Given the description of an element on the screen output the (x, y) to click on. 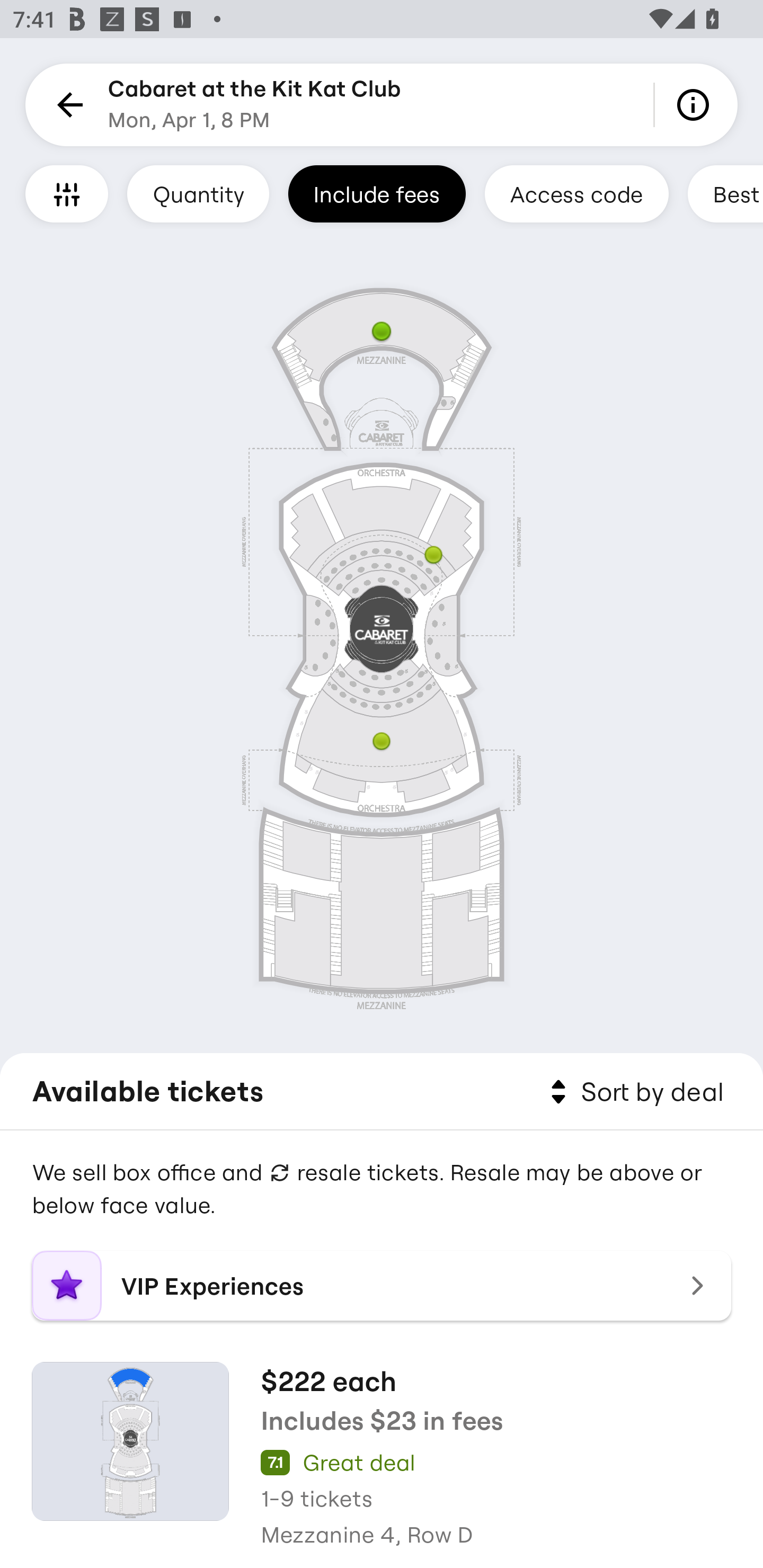
Back (66, 104)
Cabaret at the Kit Kat Club Mon, Apr 1, 8 PM (254, 104)
Info (695, 104)
Filters and Accessible Seating (66, 193)
Quantity (198, 193)
Include fees (376, 193)
Access code (576, 193)
Sort by deal (633, 1091)
VIP Experiences (381, 1285)
